Given the description of an element on the screen output the (x, y) to click on. 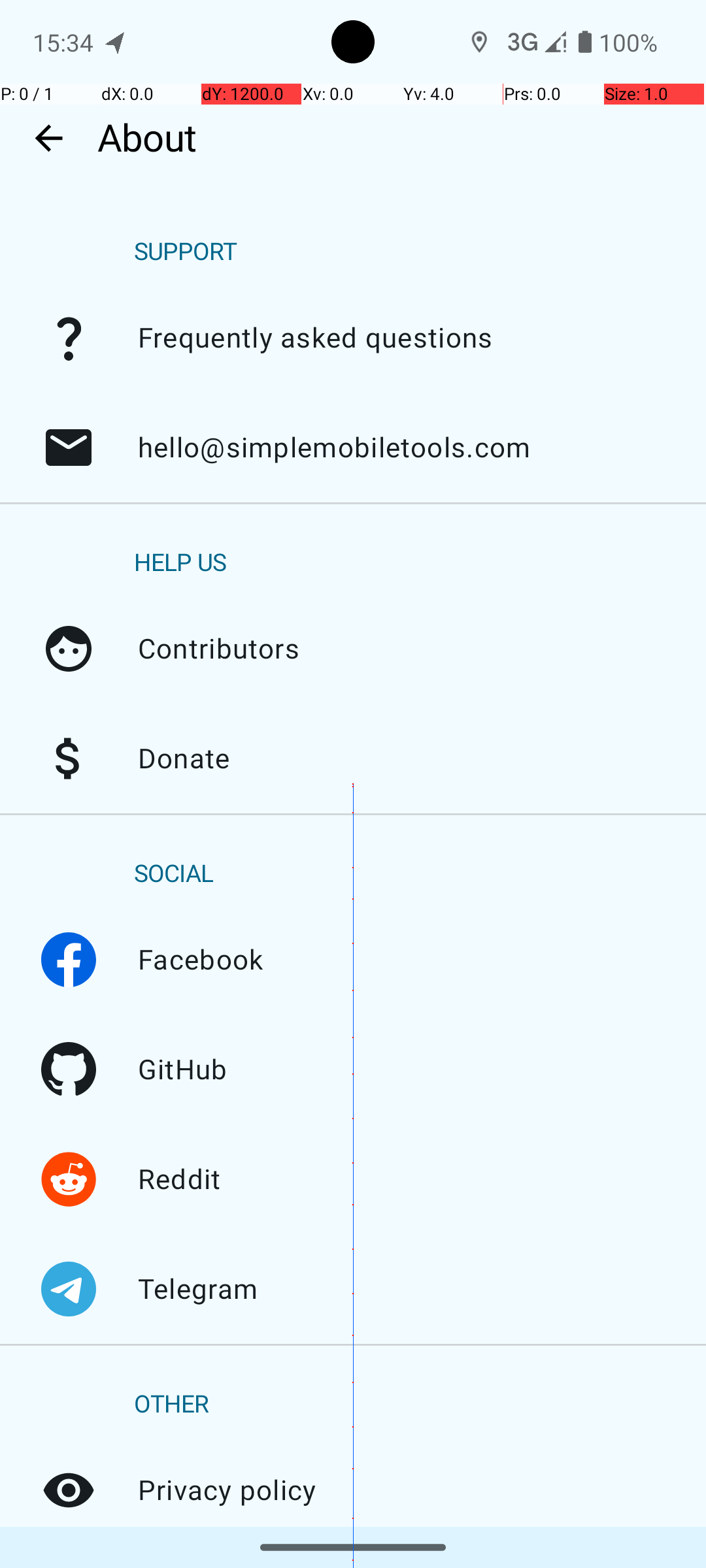
SUPPORT Element type: android.widget.TextView (185, 251)
HELP US Element type: android.widget.TextView (180, 562)
SOCIAL Element type: android.widget.TextView (173, 873)
OTHER Element type: android.widget.TextView (171, 1404)
Frequently asked questions Element type: android.view.View (68, 337)
hello@simplemobiletools.com Element type: android.view.View (68, 447)
Donate Element type: android.view.View (68, 758)
GitHub Element type: android.view.View (68, 1069)
Reddit Element type: android.view.View (68, 1178)
Telegram Element type: android.view.View (68, 1288)
